Given the description of an element on the screen output the (x, y) to click on. 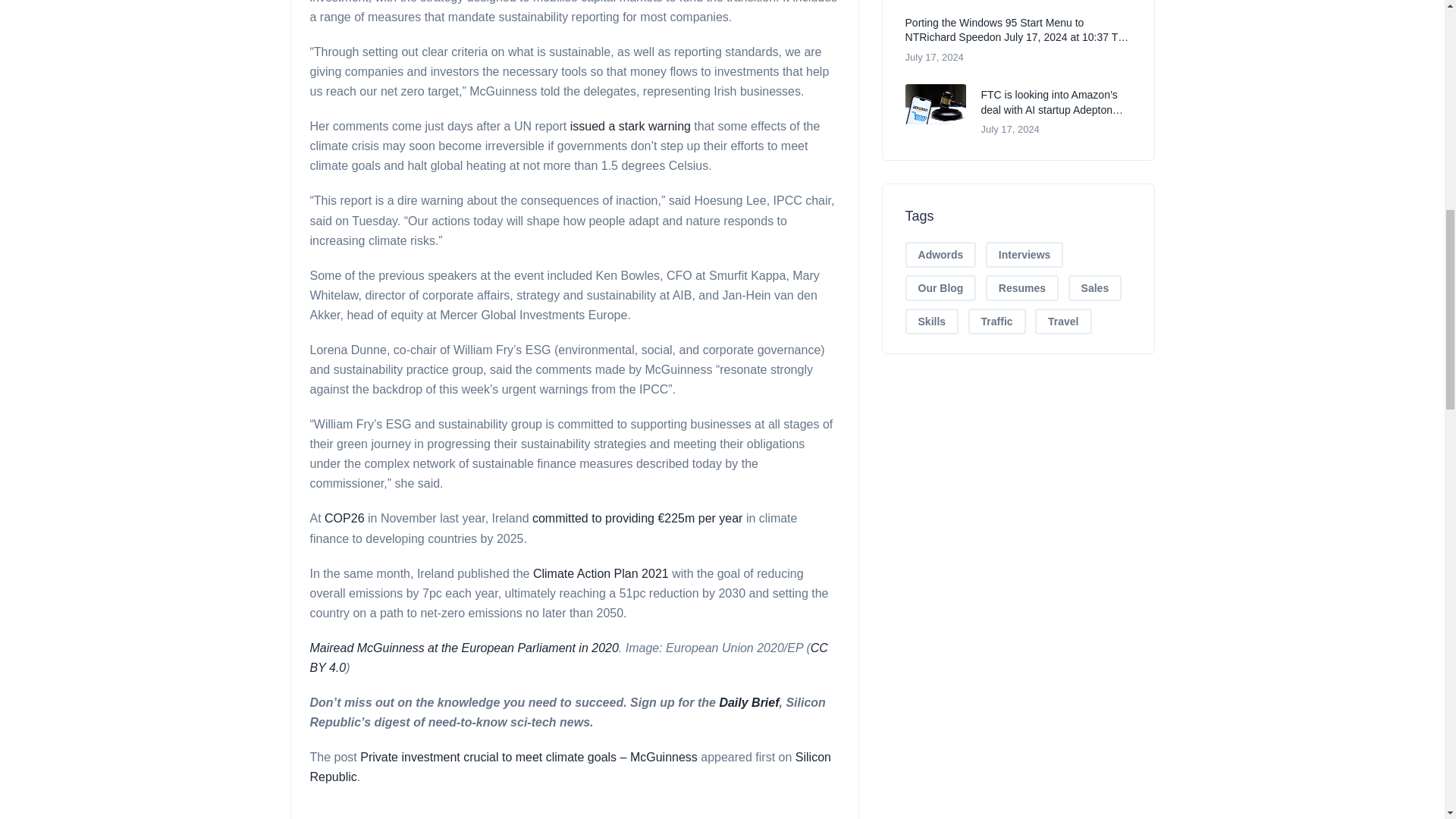
CC BY 4.0 (567, 657)
Silicon Republic (568, 766)
issued a stark warning (630, 125)
Mairead McGuinness at the European Parliament in 2020 (462, 647)
Daily Brief (748, 702)
Climate Action Plan 2021 (600, 573)
COP26 (344, 517)
